Given the description of an element on the screen output the (x, y) to click on. 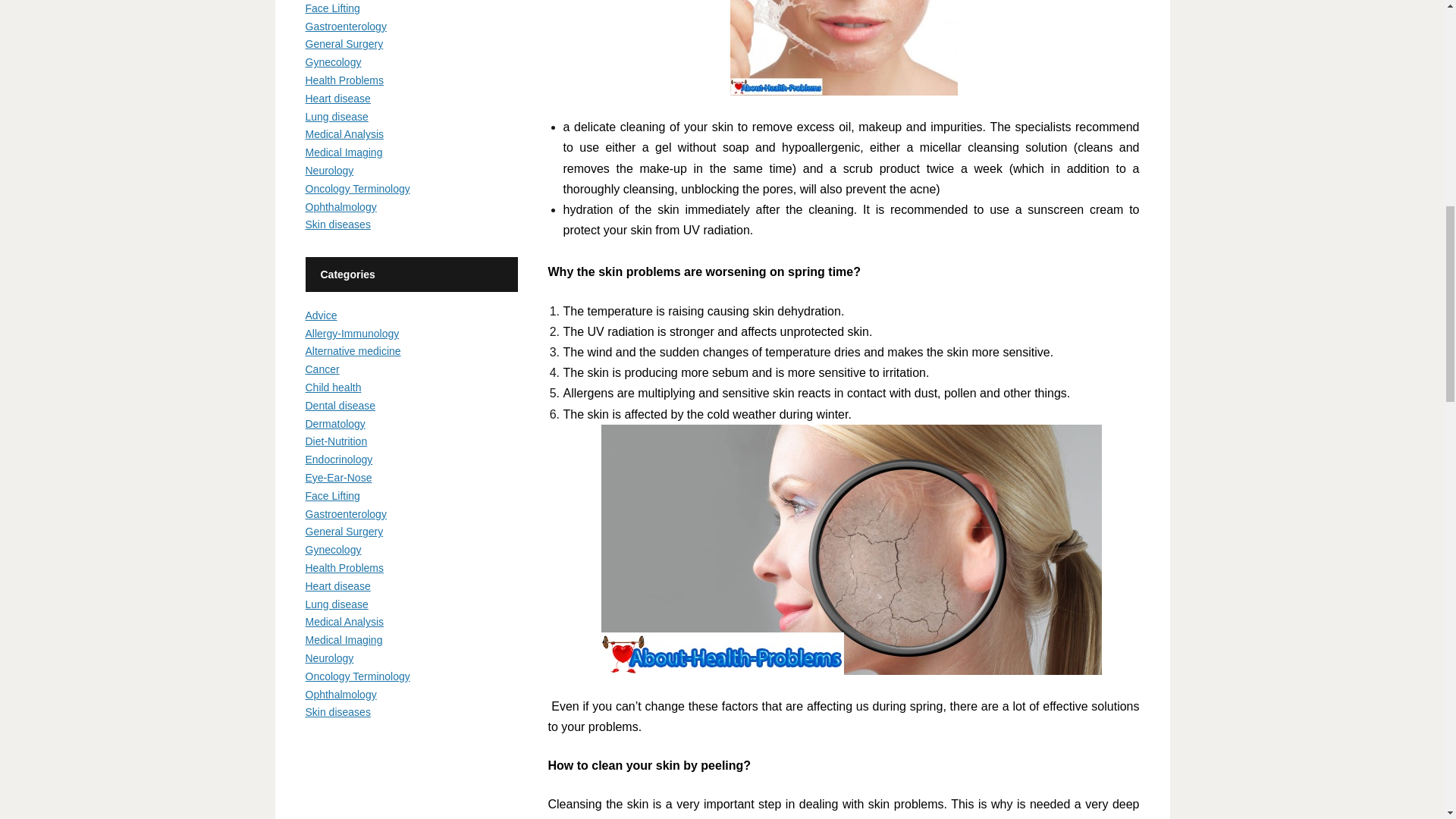
Face Lifting (331, 8)
Gastroenterology (344, 26)
General Surgery (343, 43)
Gynecology (332, 61)
